Given the description of an element on the screen output the (x, y) to click on. 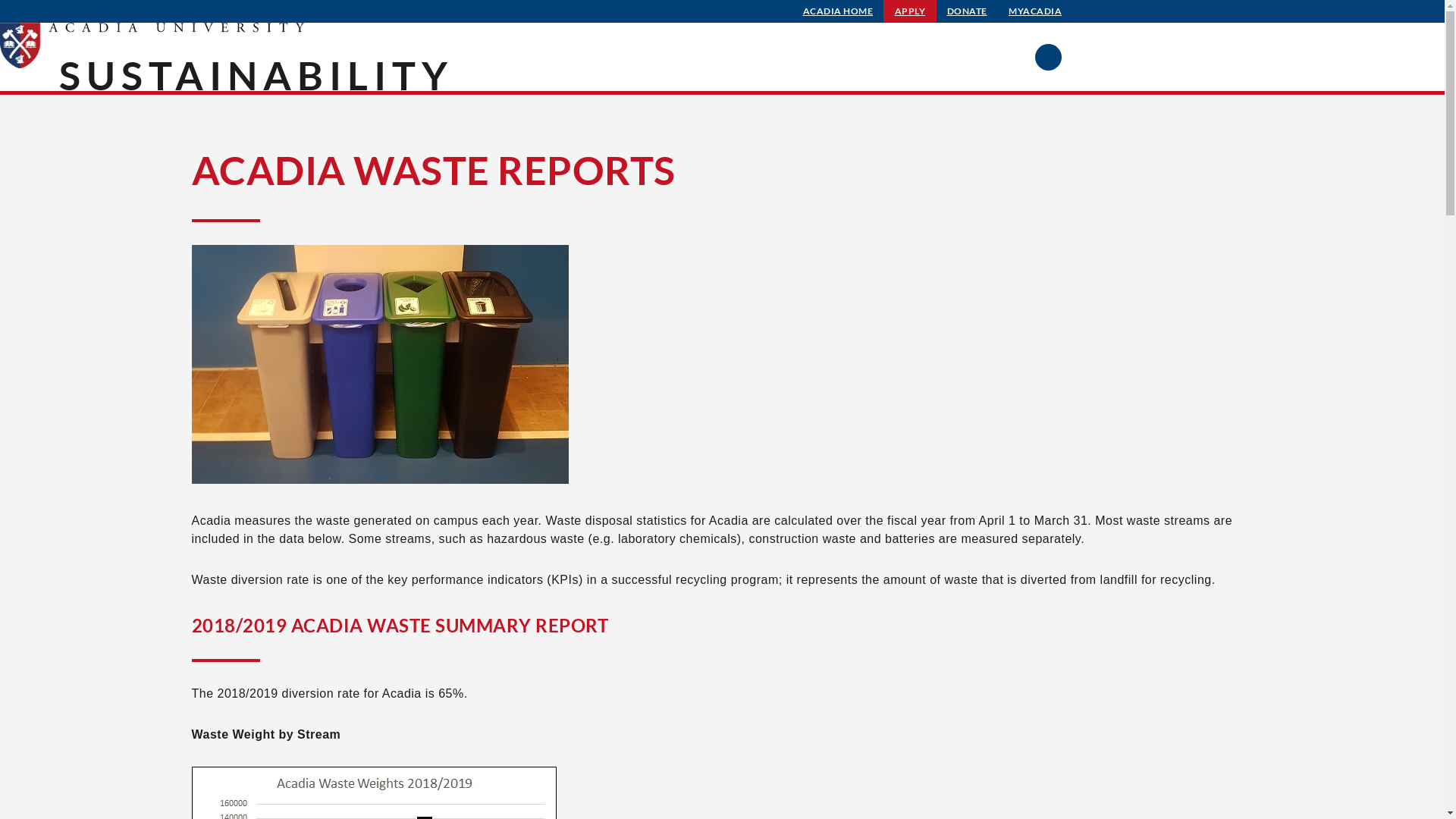
ACADIA HOME Element type: text (837, 11)
MYACADIA Element type: text (1035, 11)
SUSTAINABILITY Element type: text (256, 74)
APPLY Element type: text (909, 11)
DONATE Element type: text (966, 11)
